Given the description of an element on the screen output the (x, y) to click on. 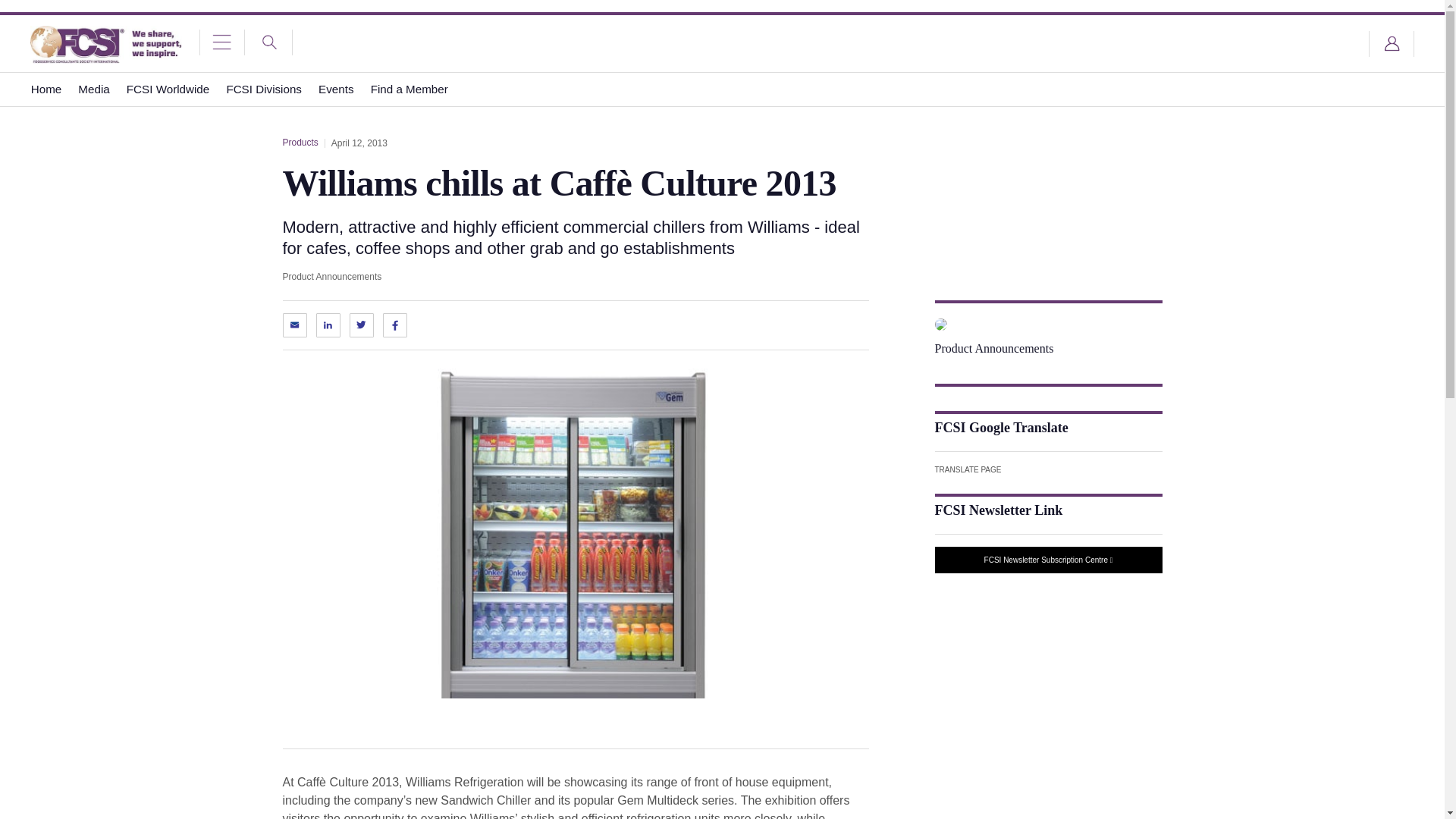
Login (1391, 43)
Home (46, 89)
Media (93, 89)
